Given the description of an element on the screen output the (x, y) to click on. 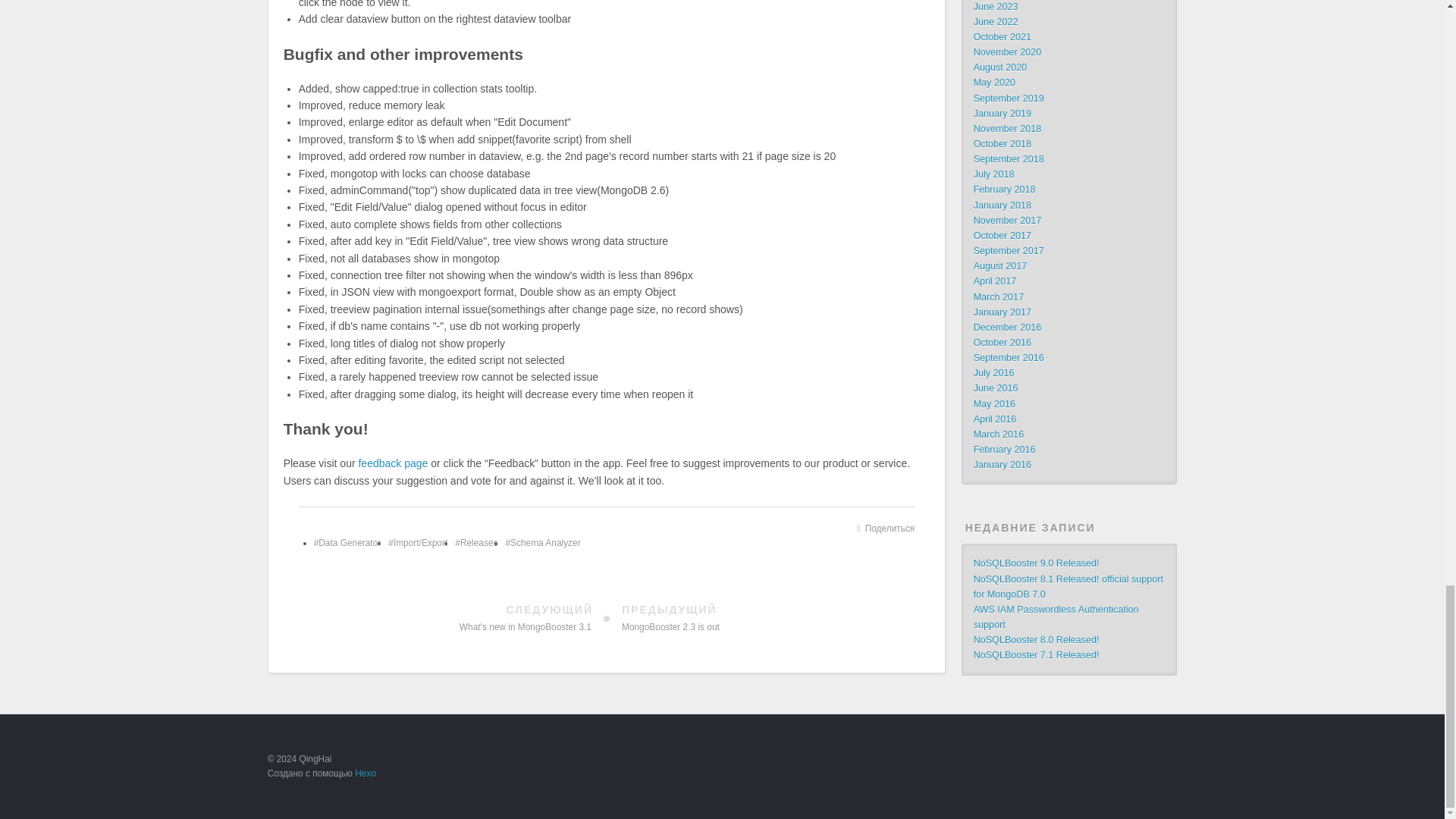
feedback page (393, 463)
Data Generator (347, 542)
Schema Analyzer (542, 542)
Releases (475, 542)
